Given the description of an element on the screen output the (x, y) to click on. 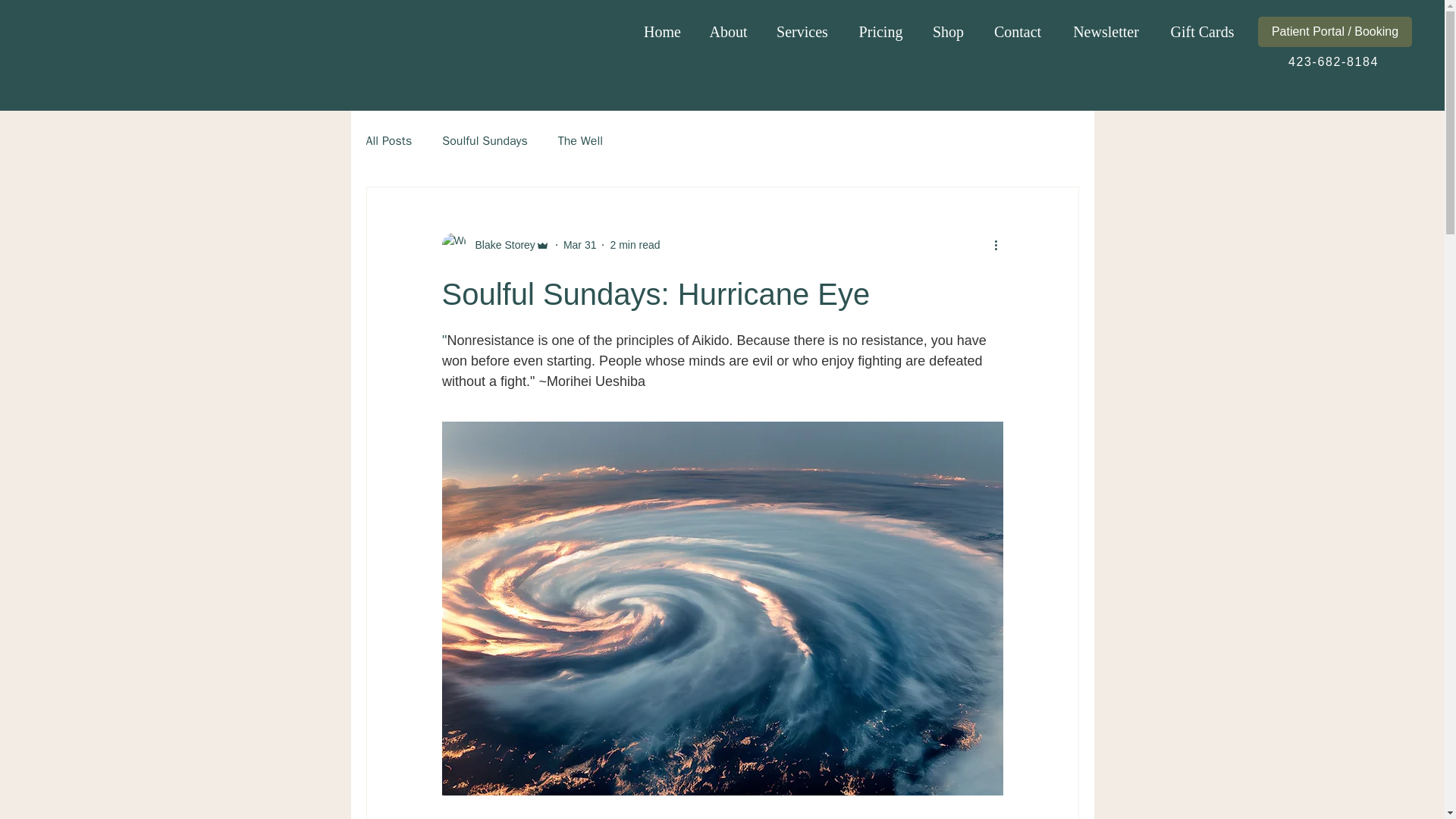
The Well (579, 141)
Contact (1017, 31)
2 min read (634, 244)
Mar 31 (579, 244)
Blake Storey (494, 244)
Pricing (880, 31)
Shop (948, 31)
Soulful Sundays (484, 141)
Home (661, 31)
423-682-8184 (1335, 61)
Blake  Storey (499, 244)
Gift Cards (1201, 31)
All Posts (388, 141)
Newsletter (1105, 31)
